Given the description of an element on the screen output the (x, y) to click on. 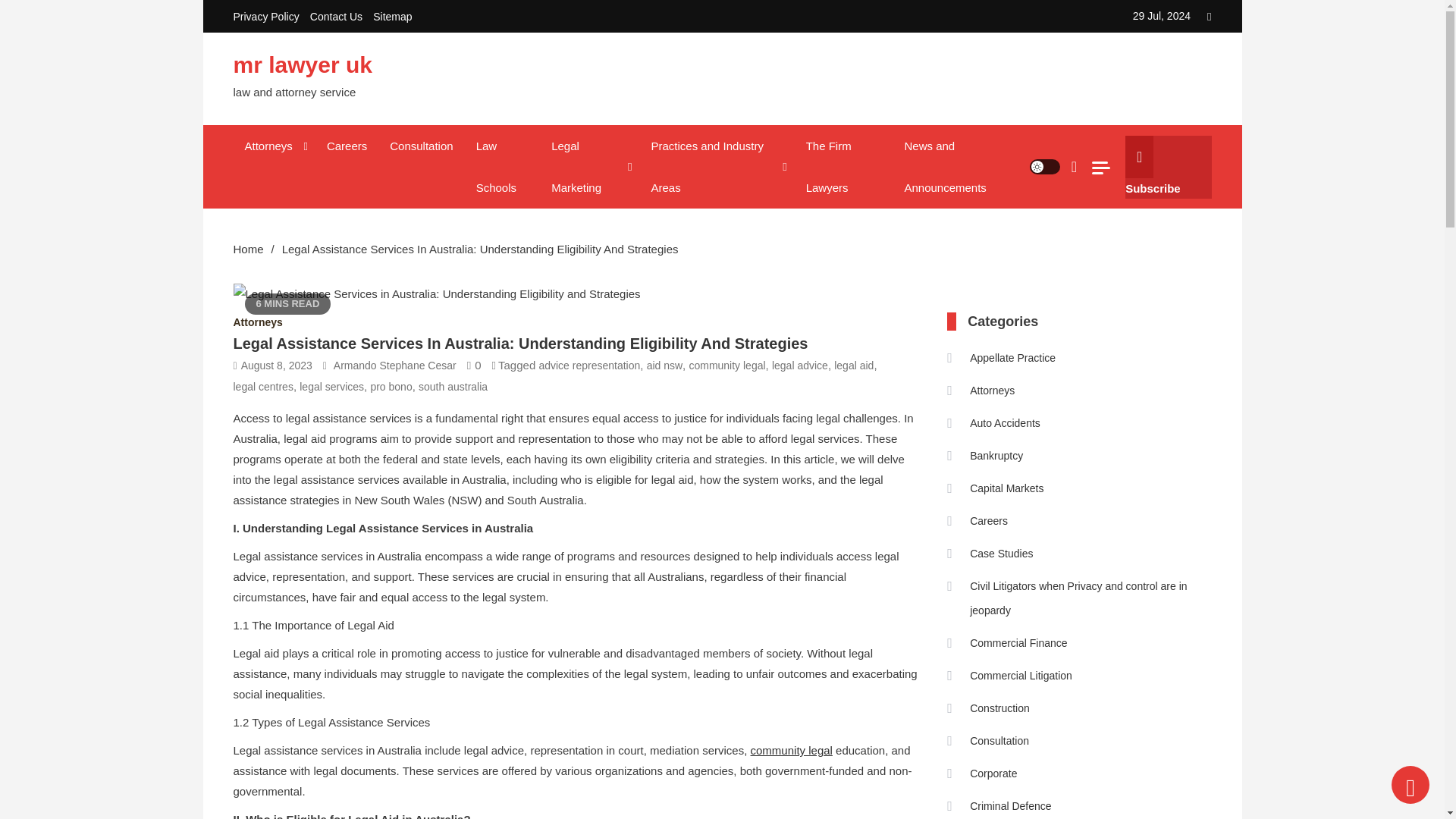
Sitemap (392, 16)
Consultation (421, 146)
Legal Marketing (589, 166)
mr lawyer uk (302, 64)
Attorneys (273, 146)
Privacy Policy (265, 16)
Practices and Industry Areas (716, 166)
Contact Us (336, 16)
Law Schools (502, 166)
Careers (346, 146)
